Given the description of an element on the screen output the (x, y) to click on. 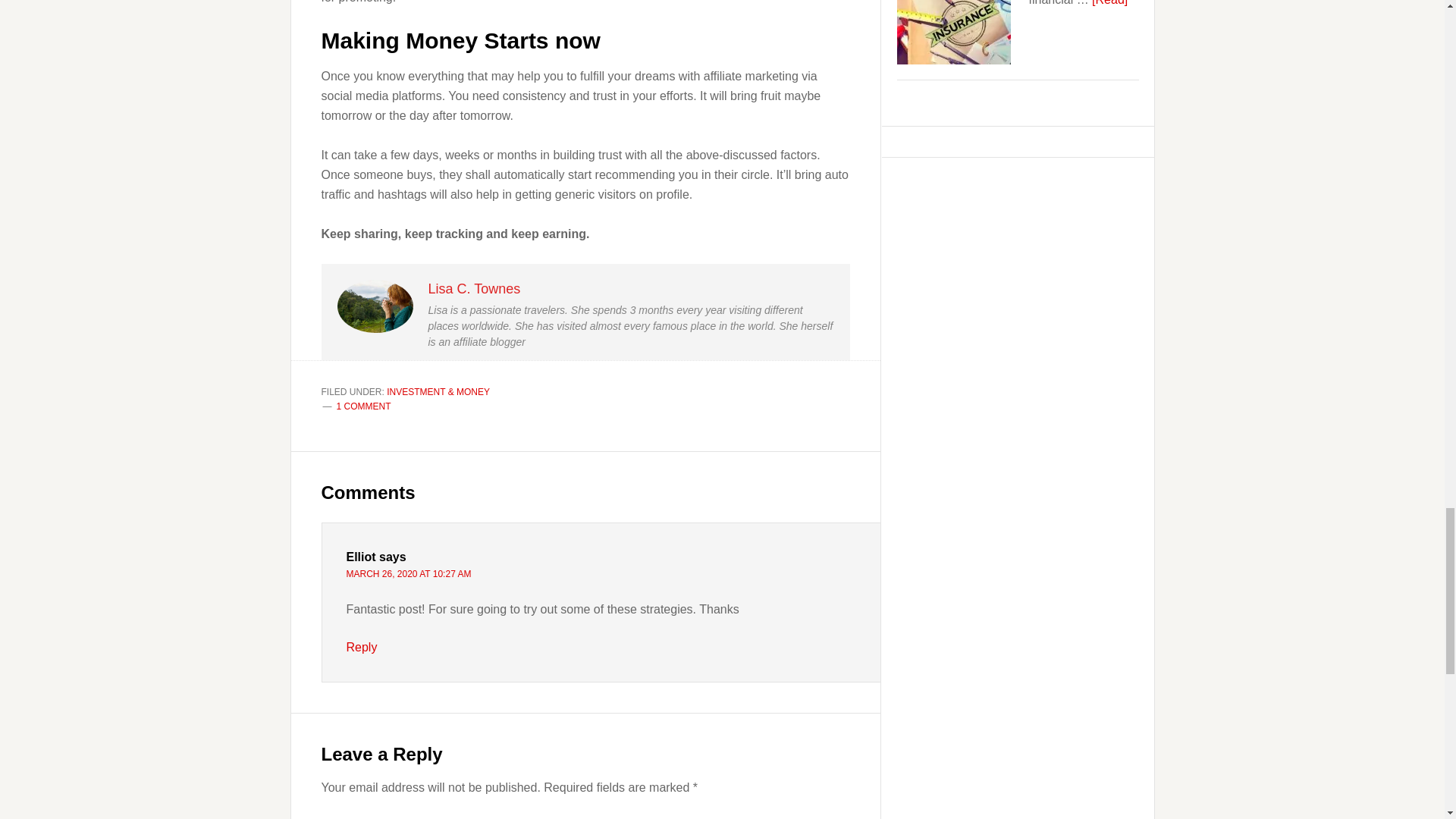
1 COMMENT (363, 406)
MARCH 26, 2020 AT 10:27 AM (408, 573)
Reply (361, 646)
Lisa C. Townes (473, 288)
